Given the description of an element on the screen output the (x, y) to click on. 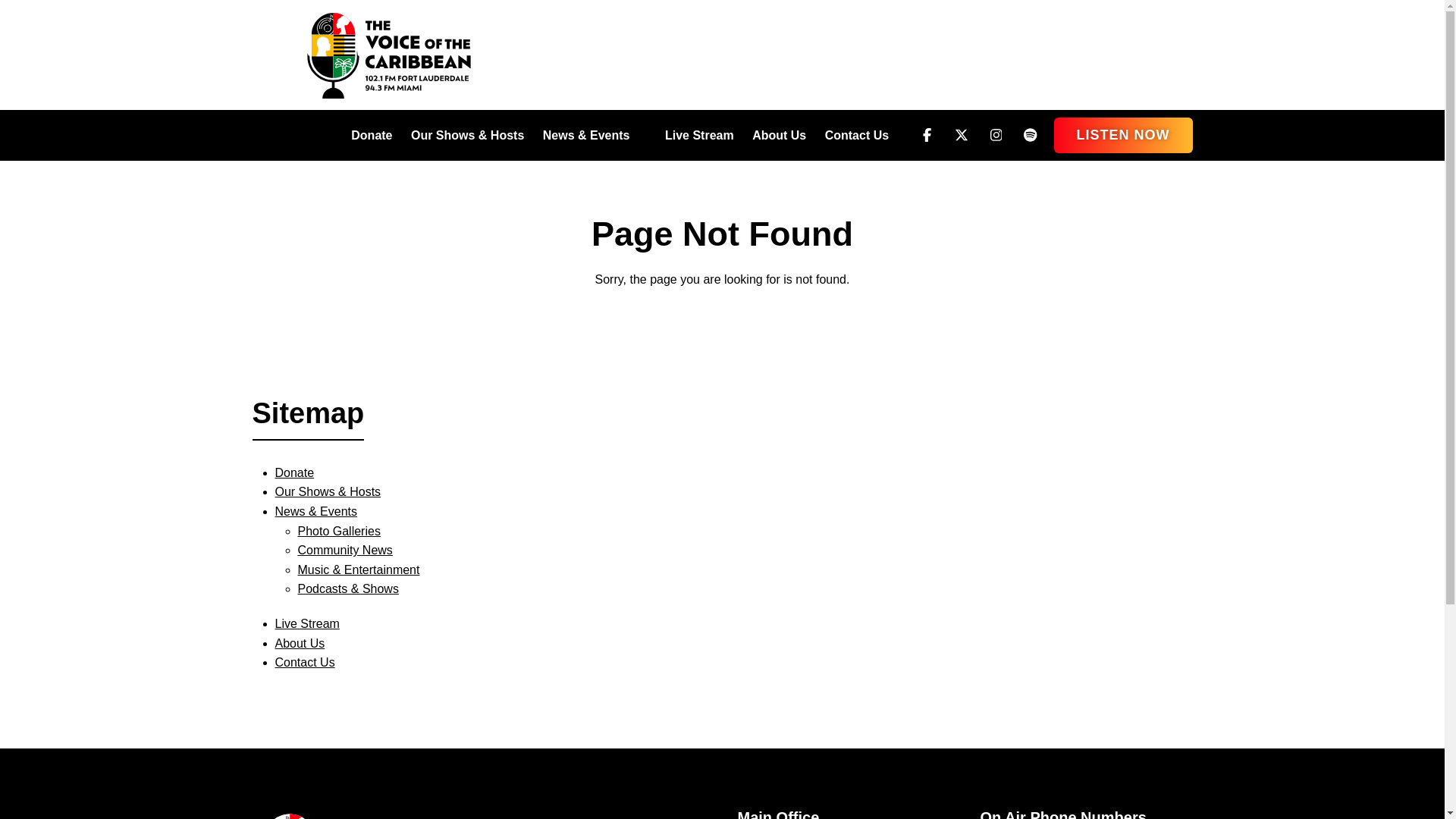
Live Stream (307, 623)
About Us (779, 135)
LISTEN NOW (1123, 135)
Live Stream (699, 135)
Donate (370, 135)
Community News (344, 549)
Donate (294, 472)
About Us (299, 643)
Contact Us (304, 662)
Photo Galleries (338, 530)
